Given the description of an element on the screen output the (x, y) to click on. 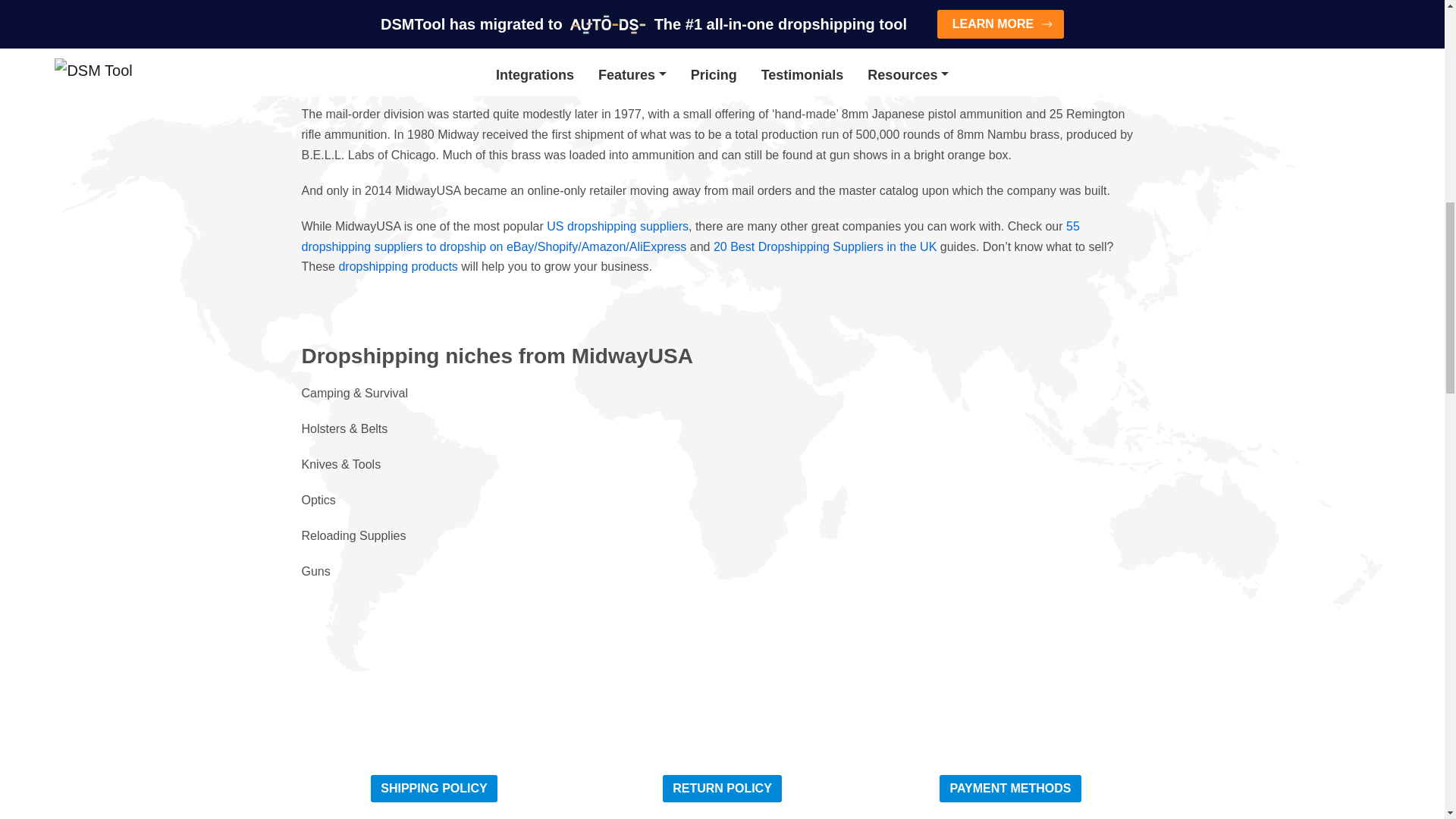
20 Best Dropshipping Suppliers in the UK (824, 246)
SHIPPING POLICY (433, 788)
PAYMENT METHODS (1009, 788)
US dropshipping suppliers (617, 226)
dropshipping products (397, 266)
RETURN POLICY (721, 788)
